Given the description of an element on the screen output the (x, y) to click on. 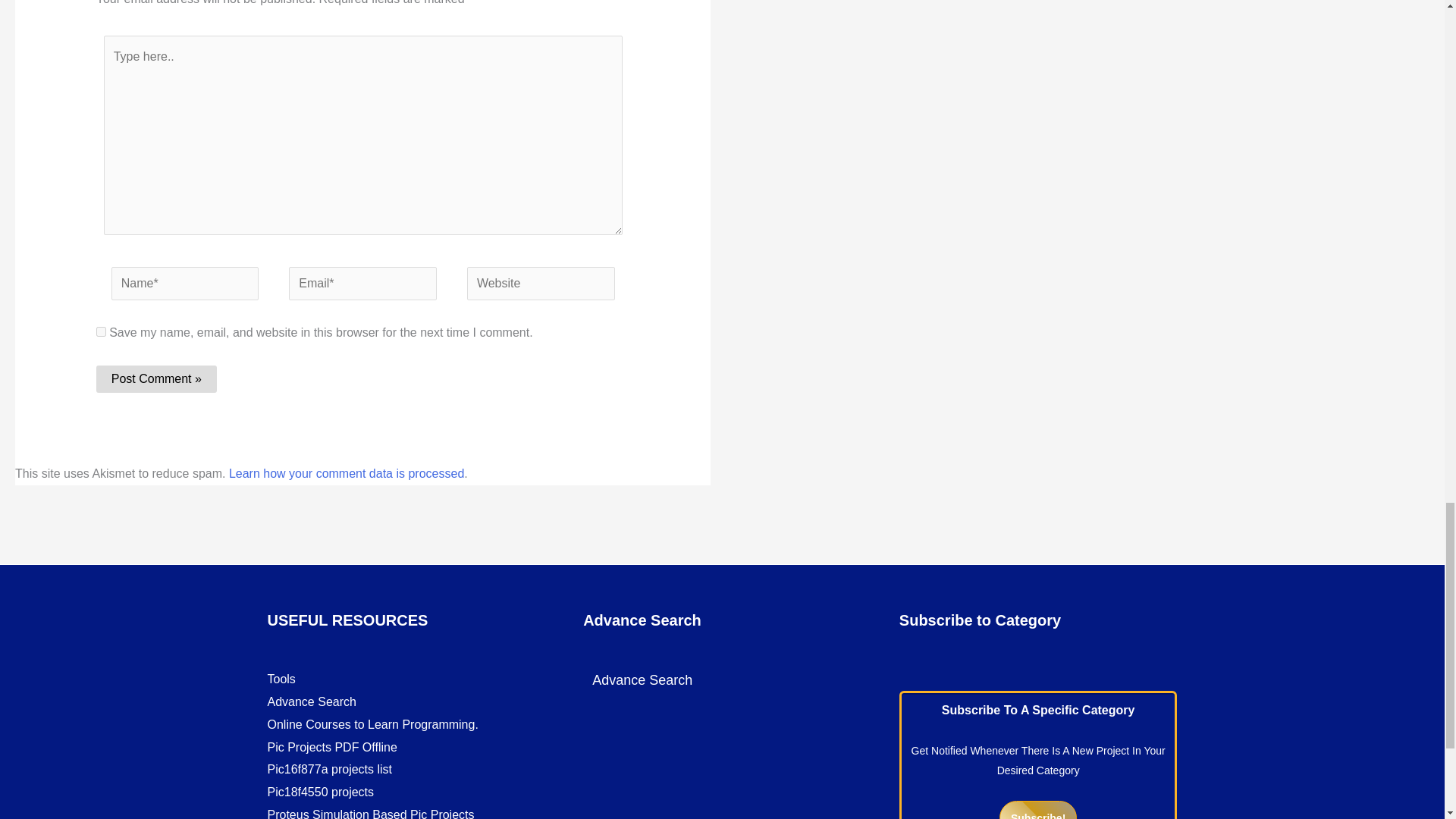
yes (101, 331)
